Given the description of an element on the screen output the (x, y) to click on. 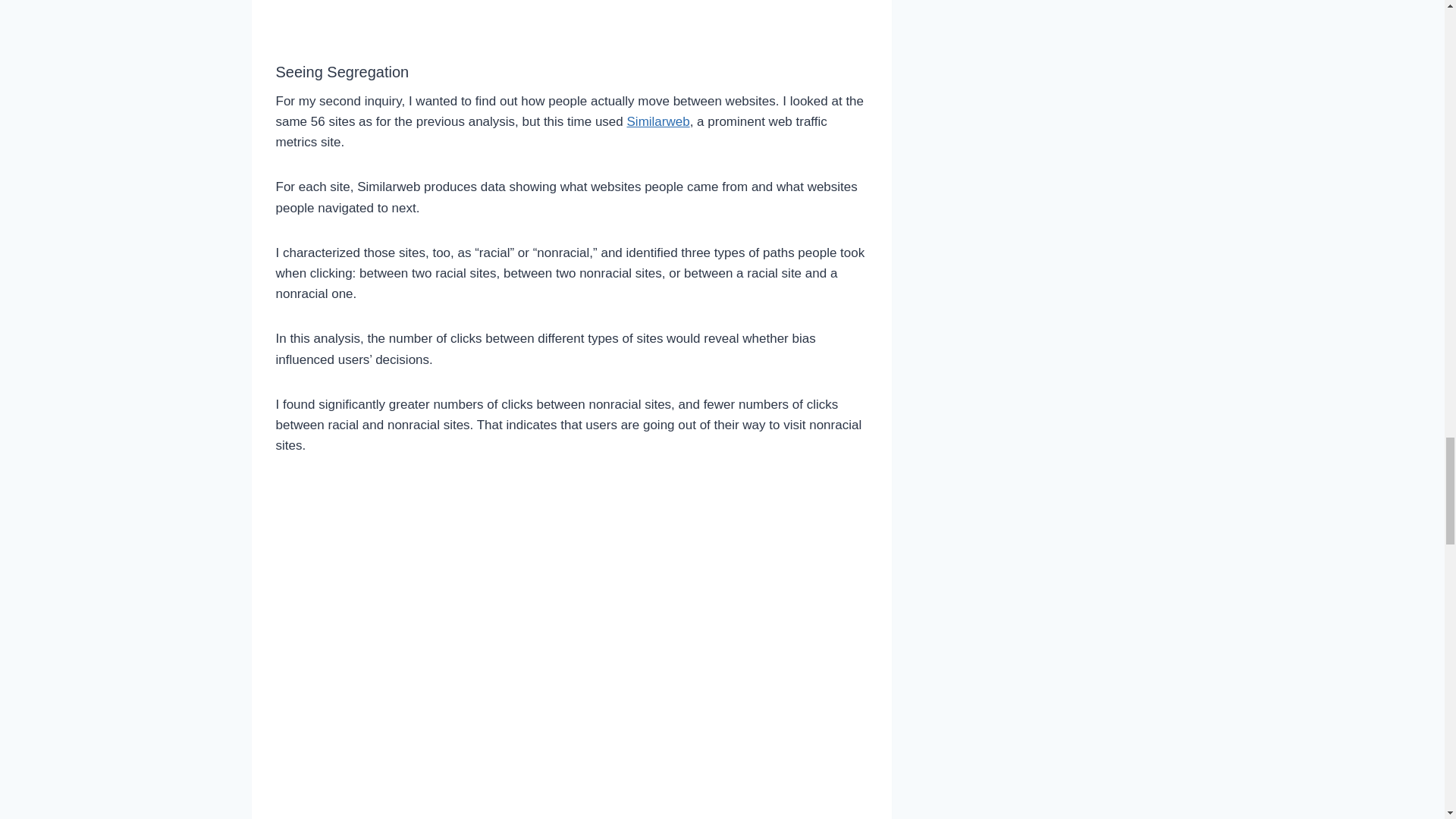
Similarweb (658, 121)
